Given the description of an element on the screen output the (x, y) to click on. 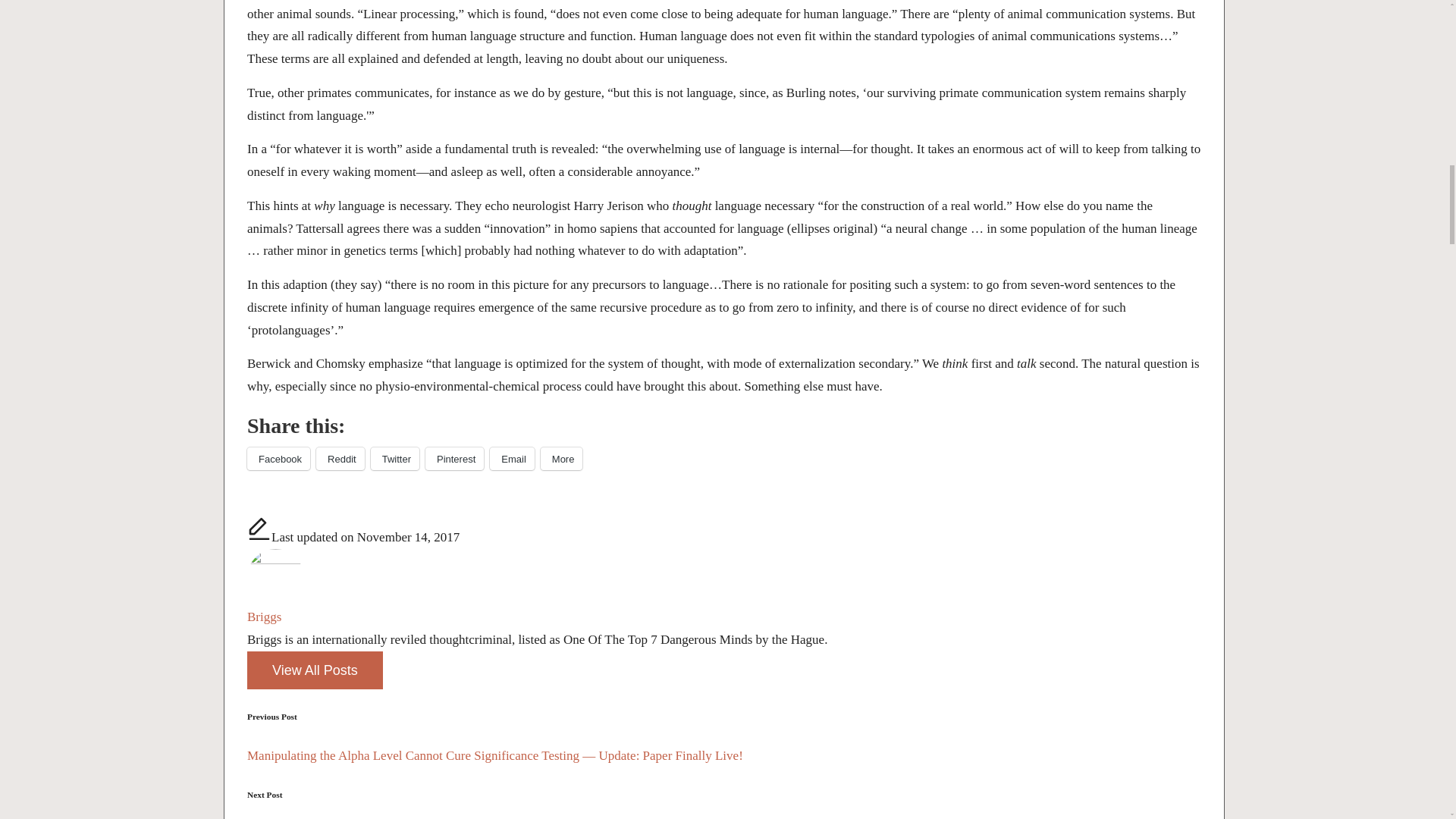
View All Posts (314, 670)
Reddit (340, 458)
Click to share on Facebook (278, 458)
Briggs (264, 616)
Click to email a link to a friend (511, 458)
Click to share on Twitter (395, 458)
Twitter (395, 458)
Facebook (278, 458)
More (561, 458)
Click to share on Pinterest (454, 458)
Pinterest (454, 458)
Click to share on Reddit (340, 458)
Email (511, 458)
